Given the description of an element on the screen output the (x, y) to click on. 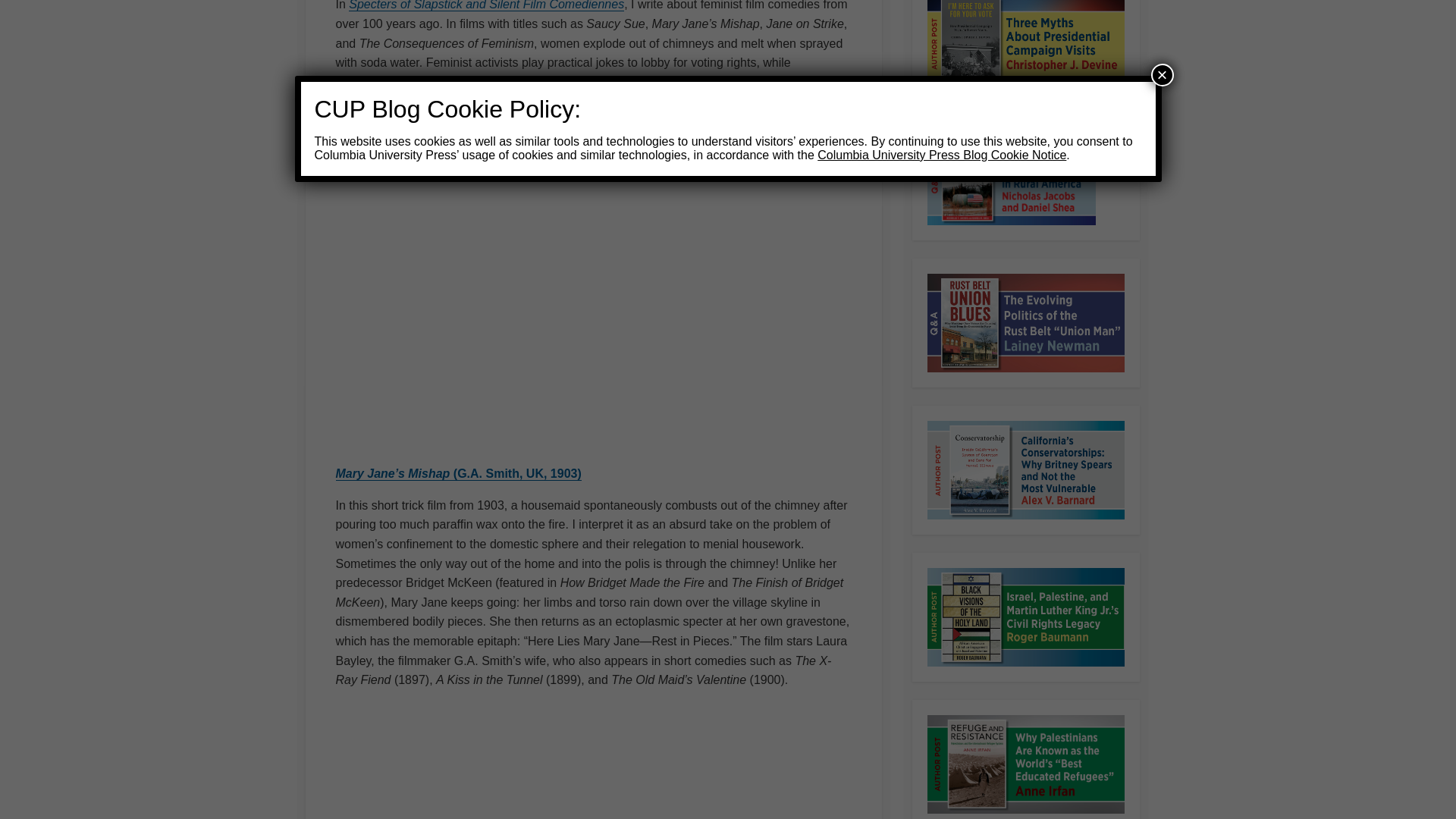
Specters of Slapstick and Silent Film Comediennes (486, 5)
